Given the description of an element on the screen output the (x, y) to click on. 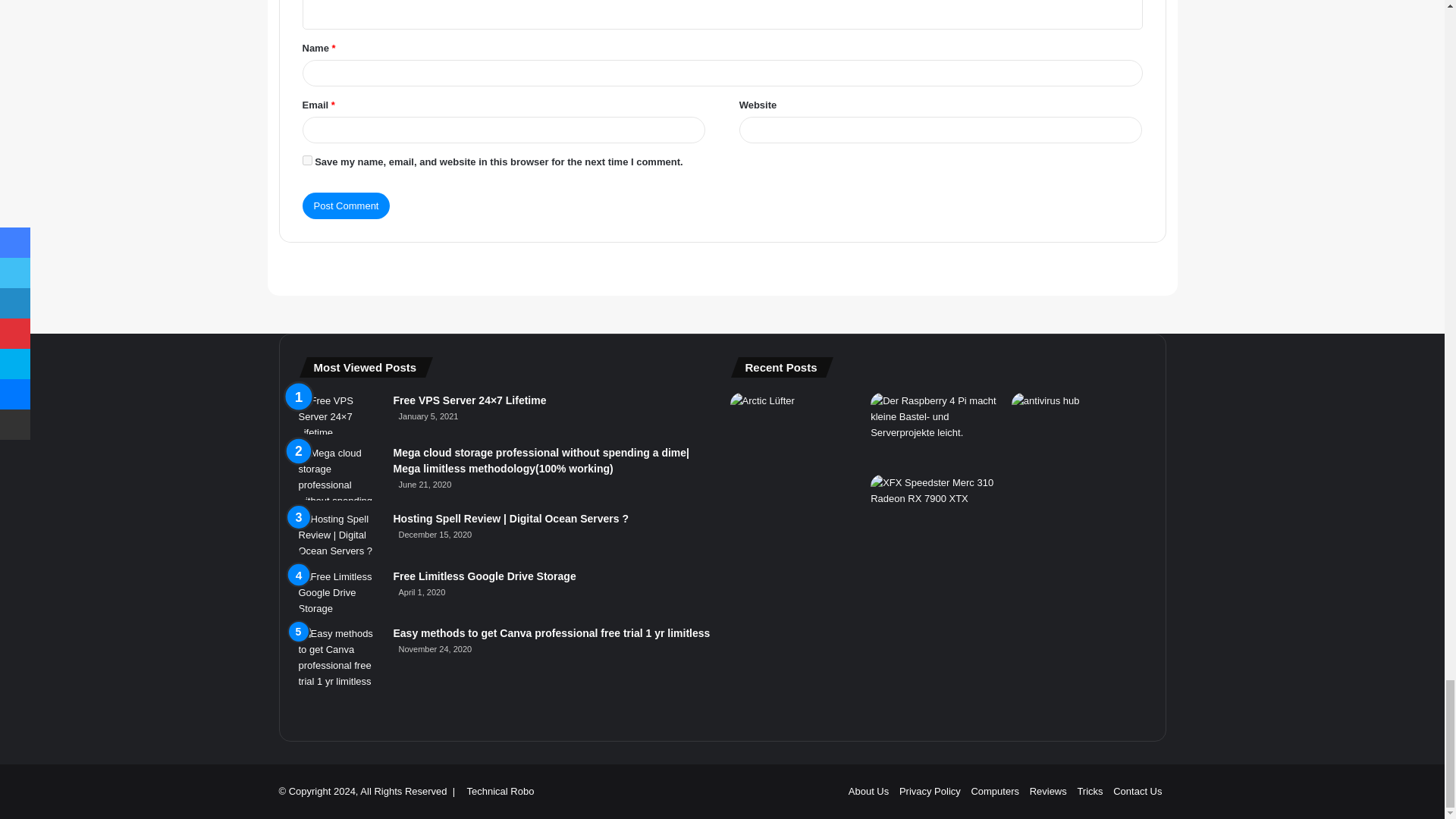
yes (306, 160)
Post Comment (345, 205)
